Given the description of an element on the screen output the (x, y) to click on. 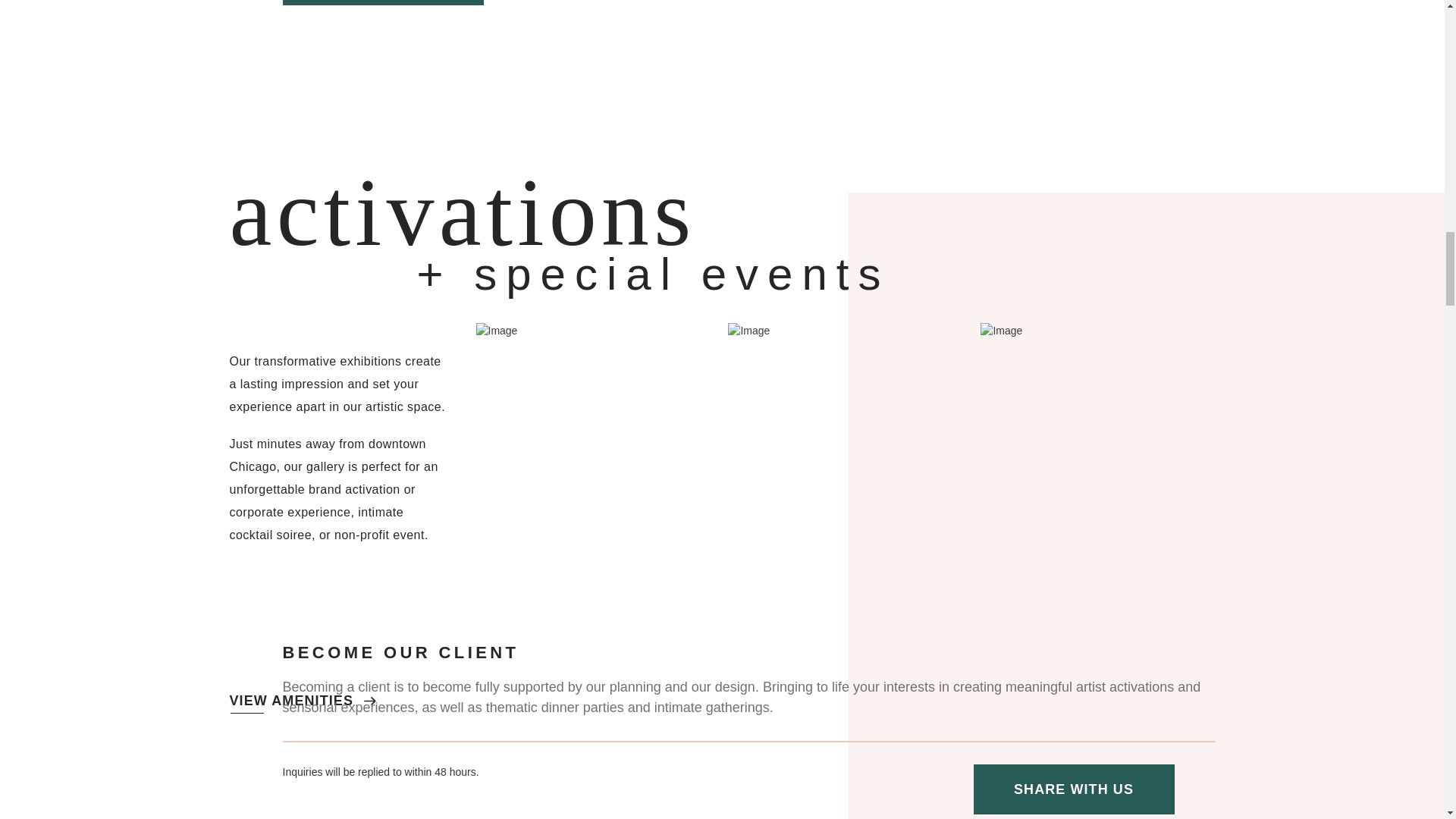
SHARE WITH US (1074, 789)
INQUIRE (382, 2)
VIEW AMENITIES (301, 700)
